Given the description of an element on the screen output the (x, y) to click on. 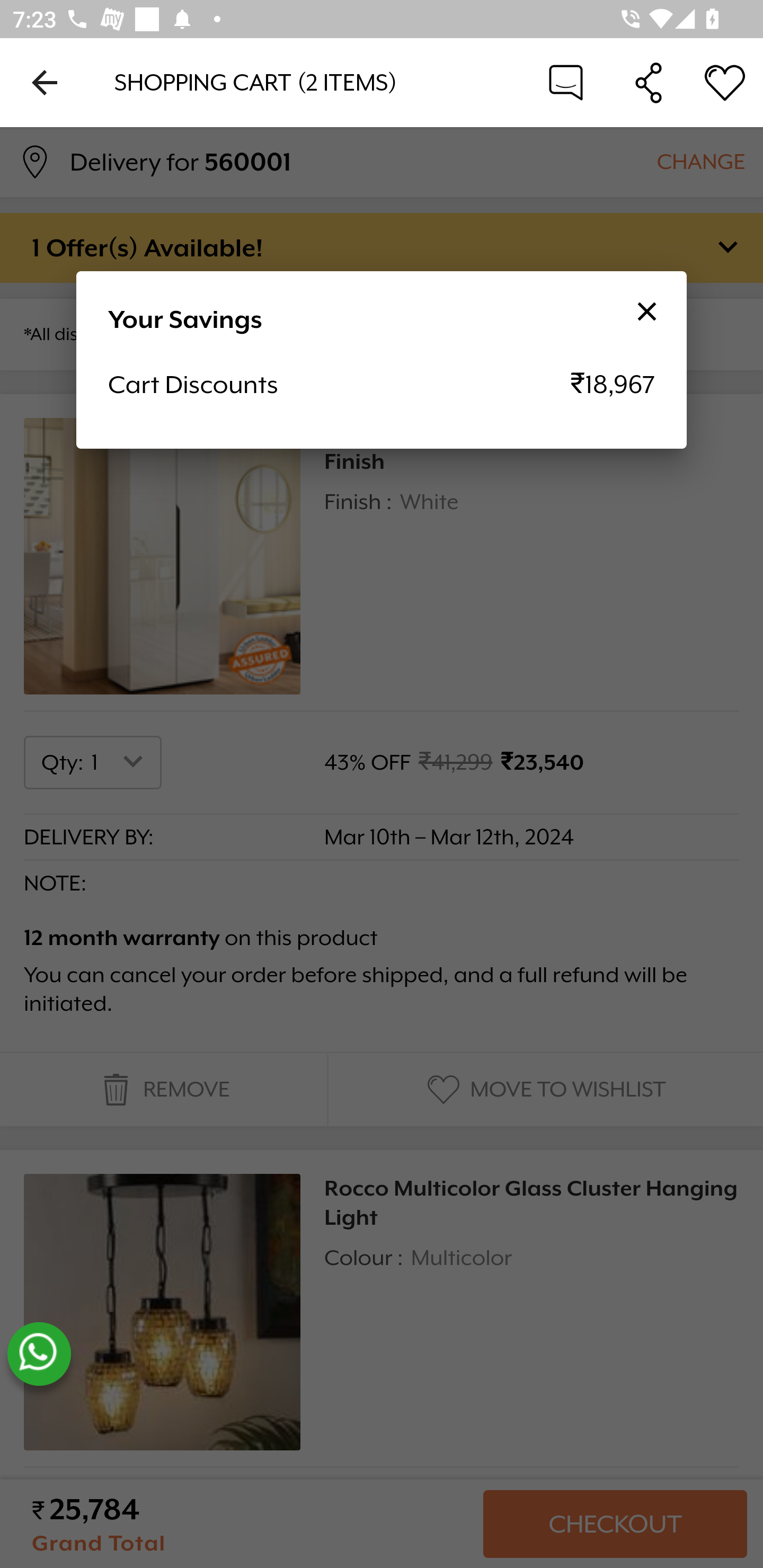
Navigate up (44, 82)
Chat (565, 81)
Share Cart (648, 81)
Wishlist (724, 81)
whatsapp (38, 1353)
